Given the description of an element on the screen output the (x, y) to click on. 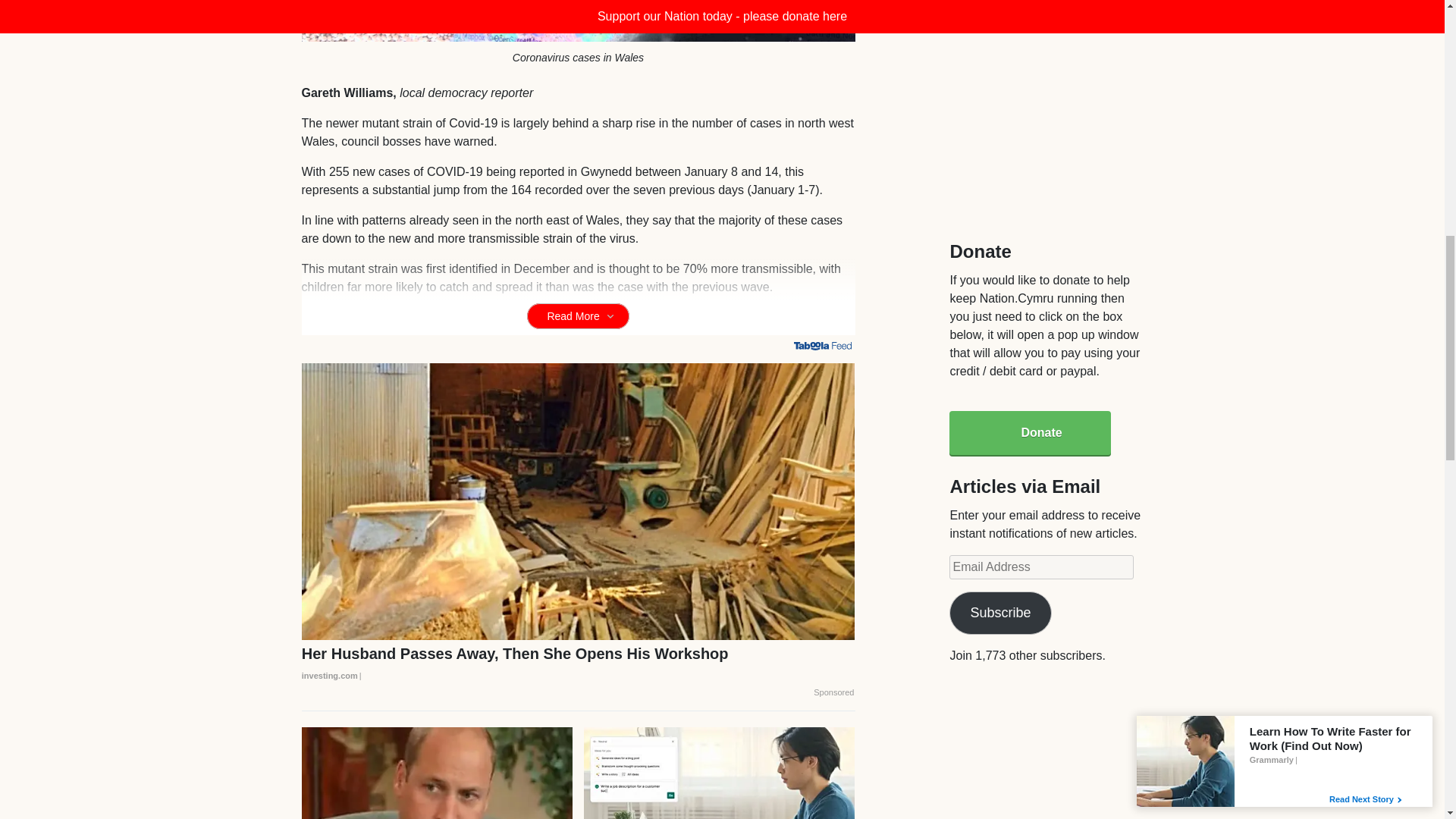
Read More (577, 316)
Her Husband Passes Away, Then She Opens His Workshop (578, 664)
Sponsored (833, 692)
